Given the description of an element on the screen output the (x, y) to click on. 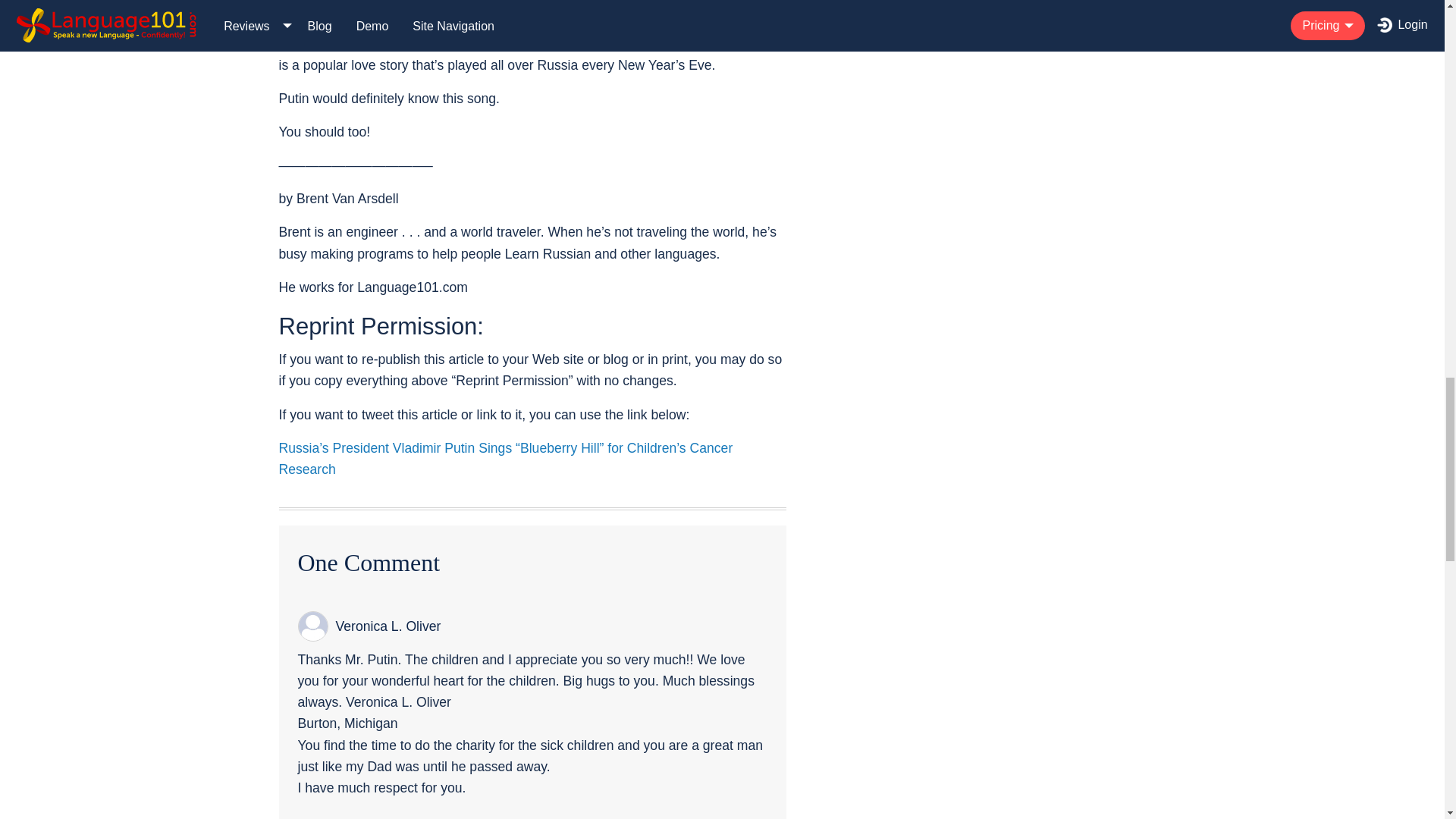
If You Don't Have an Aunt (454, 10)
